Given the description of an element on the screen output the (x, y) to click on. 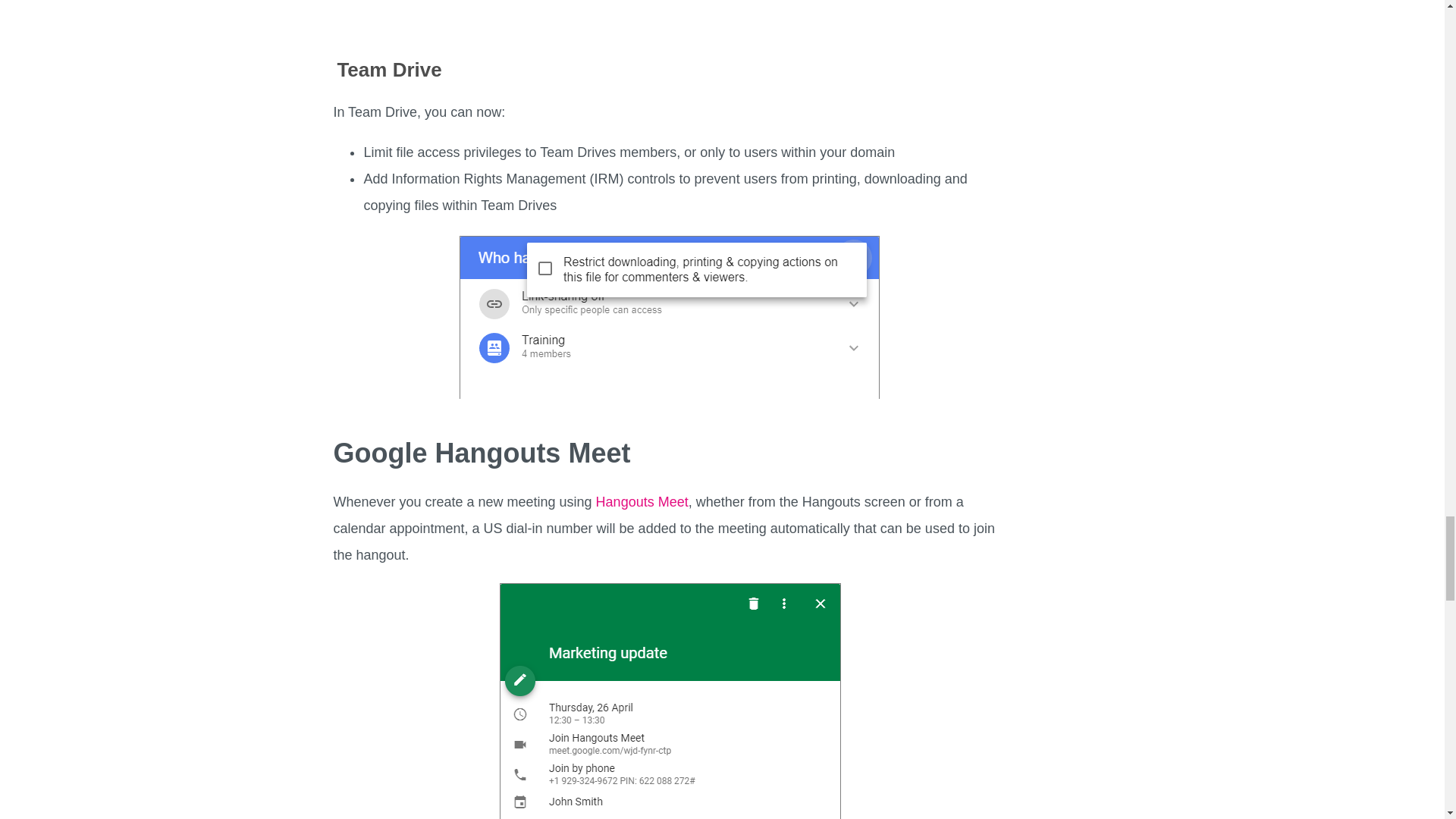
Hangouts Meet (641, 501)
